Given the description of an element on the screen output the (x, y) to click on. 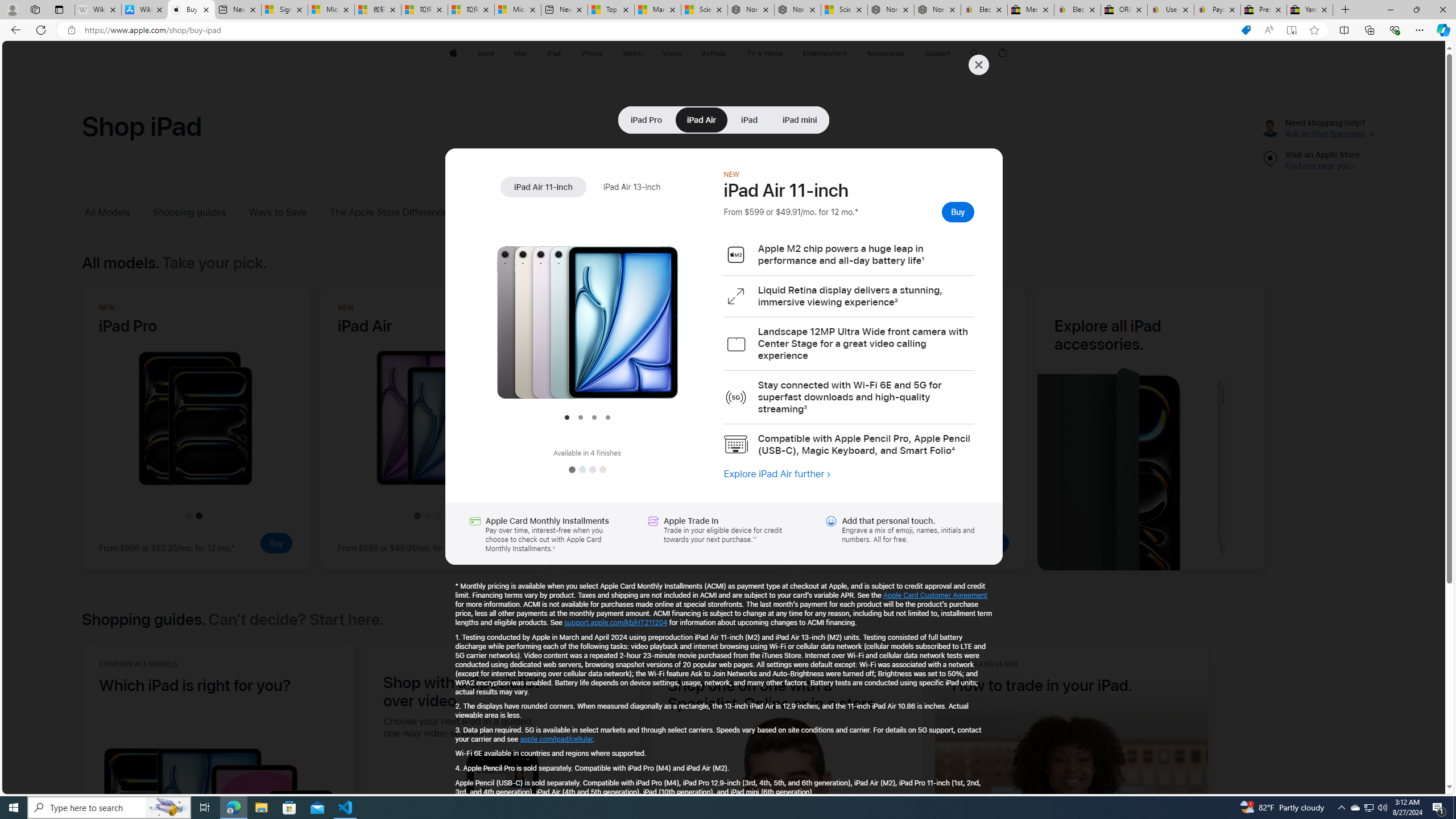
Starlight (601, 469)
Yard, Garden & Outdoor Living (1309, 9)
Next (700, 312)
Purple (591, 469)
iPad mini (799, 119)
Apple Card Customer Agreement (Opens in a new window) (935, 595)
Item 4 (607, 417)
support.apple.com/kb/HT211204 (Opens in a new window) (615, 622)
Top Stories - MSN (610, 9)
